Given the description of an element on the screen output the (x, y) to click on. 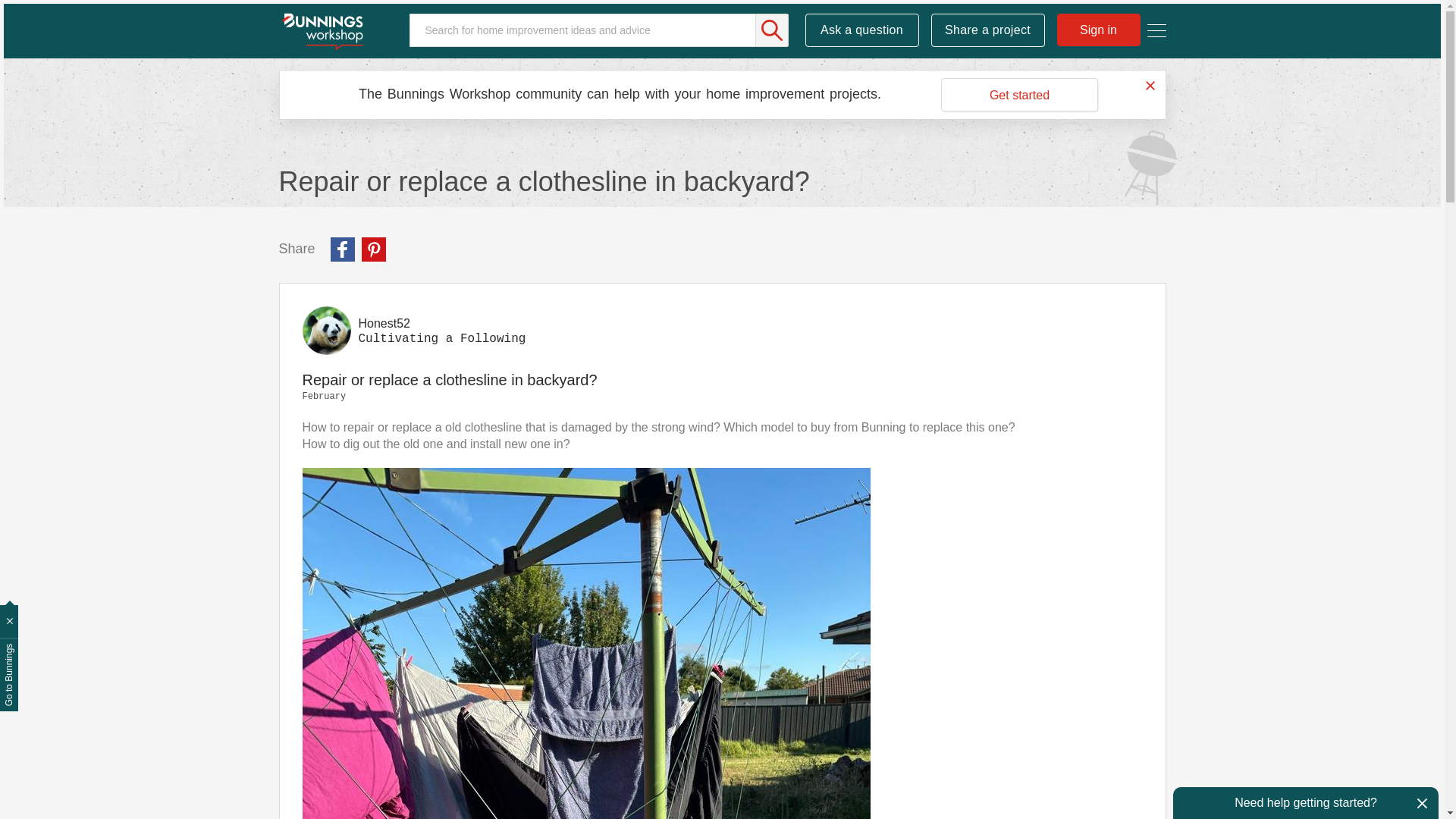
Search (772, 29)
Honest52 (325, 330)
Get started (1018, 94)
Sign in (1098, 29)
Search (772, 29)
Search (599, 29)
Posted on (721, 396)
Honest52 (384, 323)
Search (772, 29)
Ask a question (861, 29)
